Given the description of an element on the screen output the (x, y) to click on. 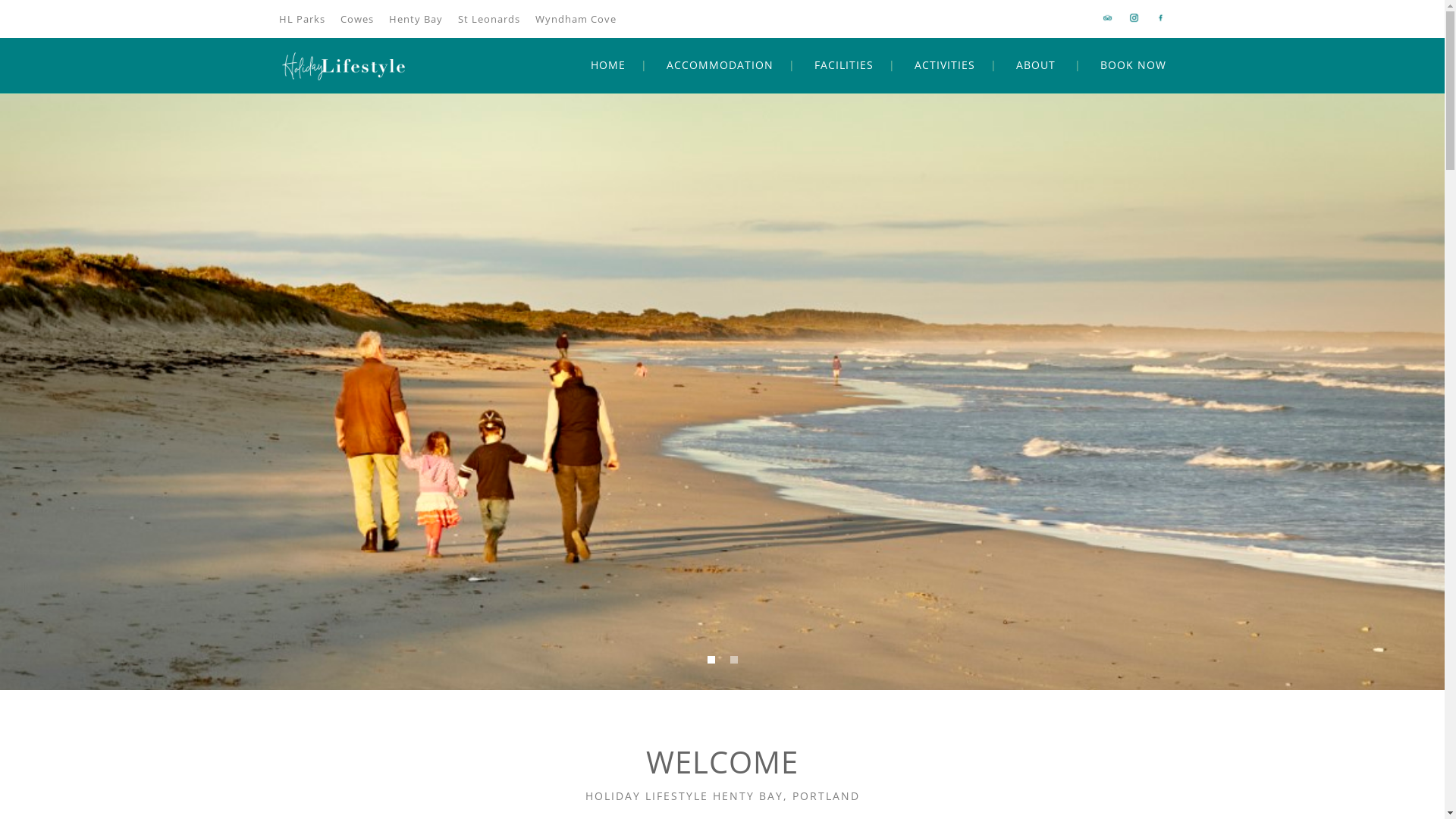
ACTIVITIES Element type: text (944, 64)
Wyndham Cove Element type: text (575, 18)
BOOK NOW Element type: text (1132, 64)
Cowes Element type: text (356, 18)
HOME Element type: text (606, 64)
HL Parks Element type: text (302, 18)
St Leonards Element type: text (489, 18)
ACCOMMODATION Element type: text (718, 64)
FACILITIES Element type: text (843, 64)
ABOUT Element type: text (1035, 64)
Henty Bay Element type: text (415, 18)
